Given the description of an element on the screen output the (x, y) to click on. 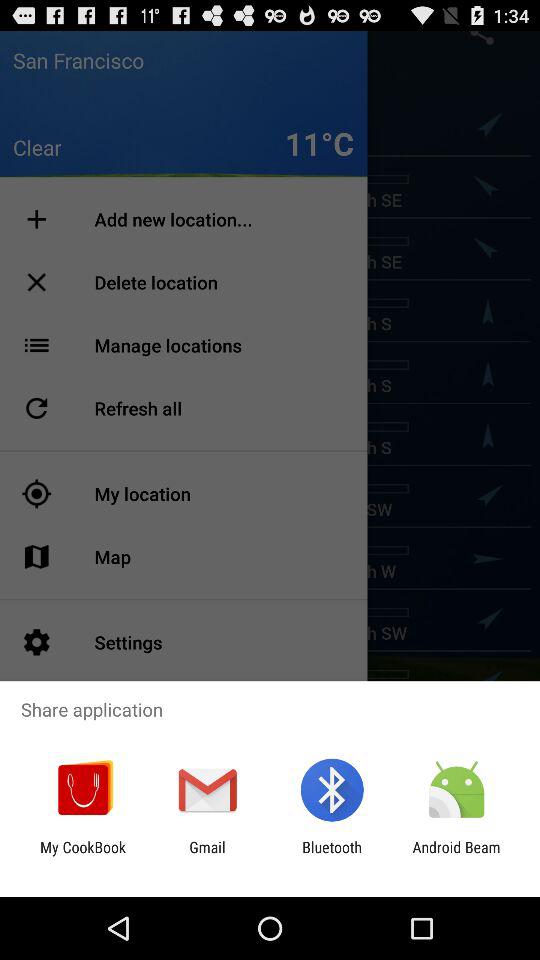
choose app next to the gmail (331, 856)
